Given the description of an element on the screen output the (x, y) to click on. 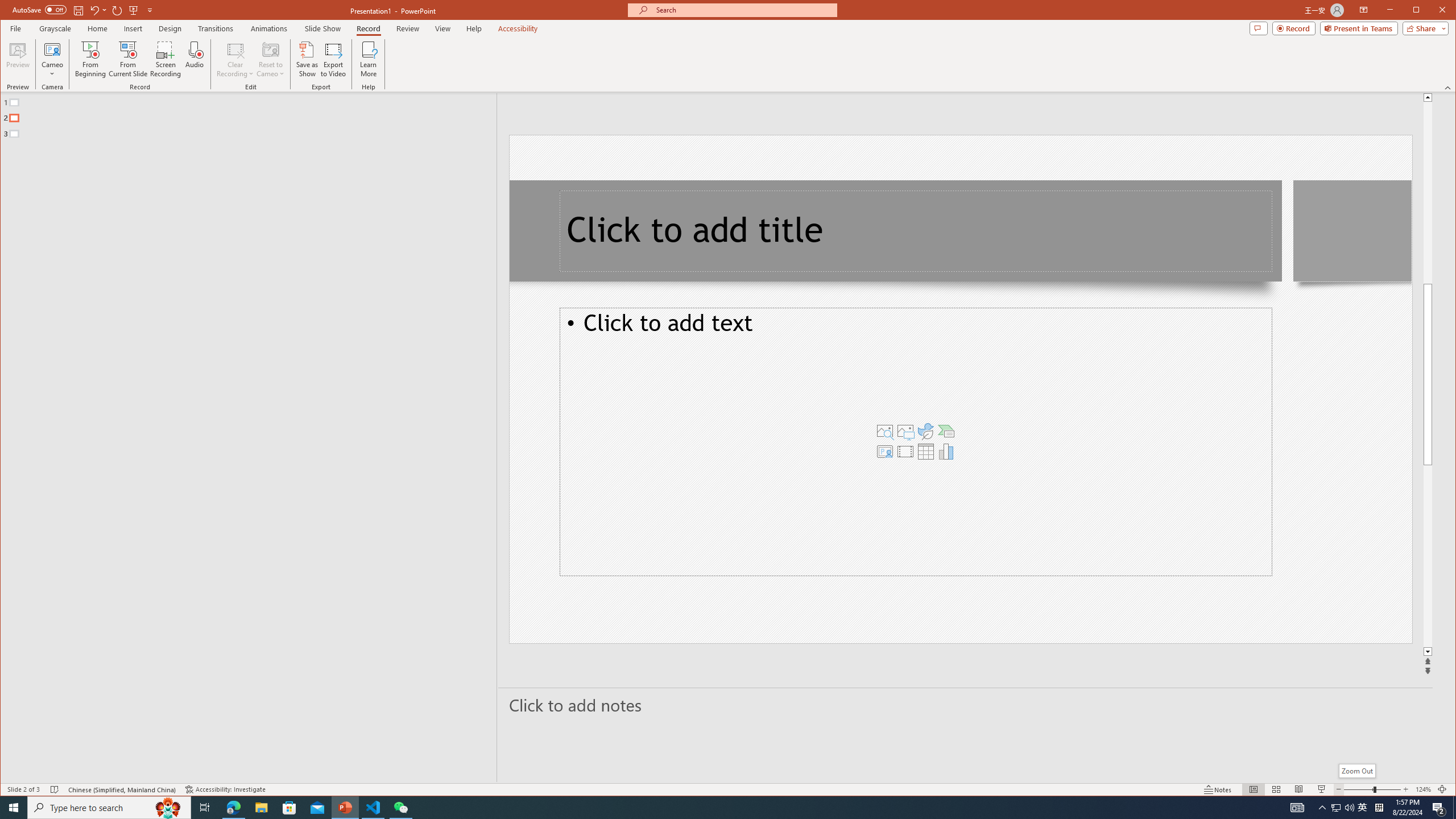
Reset to Cameo (269, 59)
Screen Recording (165, 59)
Grayscale (55, 28)
Learn More (368, 59)
Save as Show (307, 59)
